Given the description of an element on the screen output the (x, y) to click on. 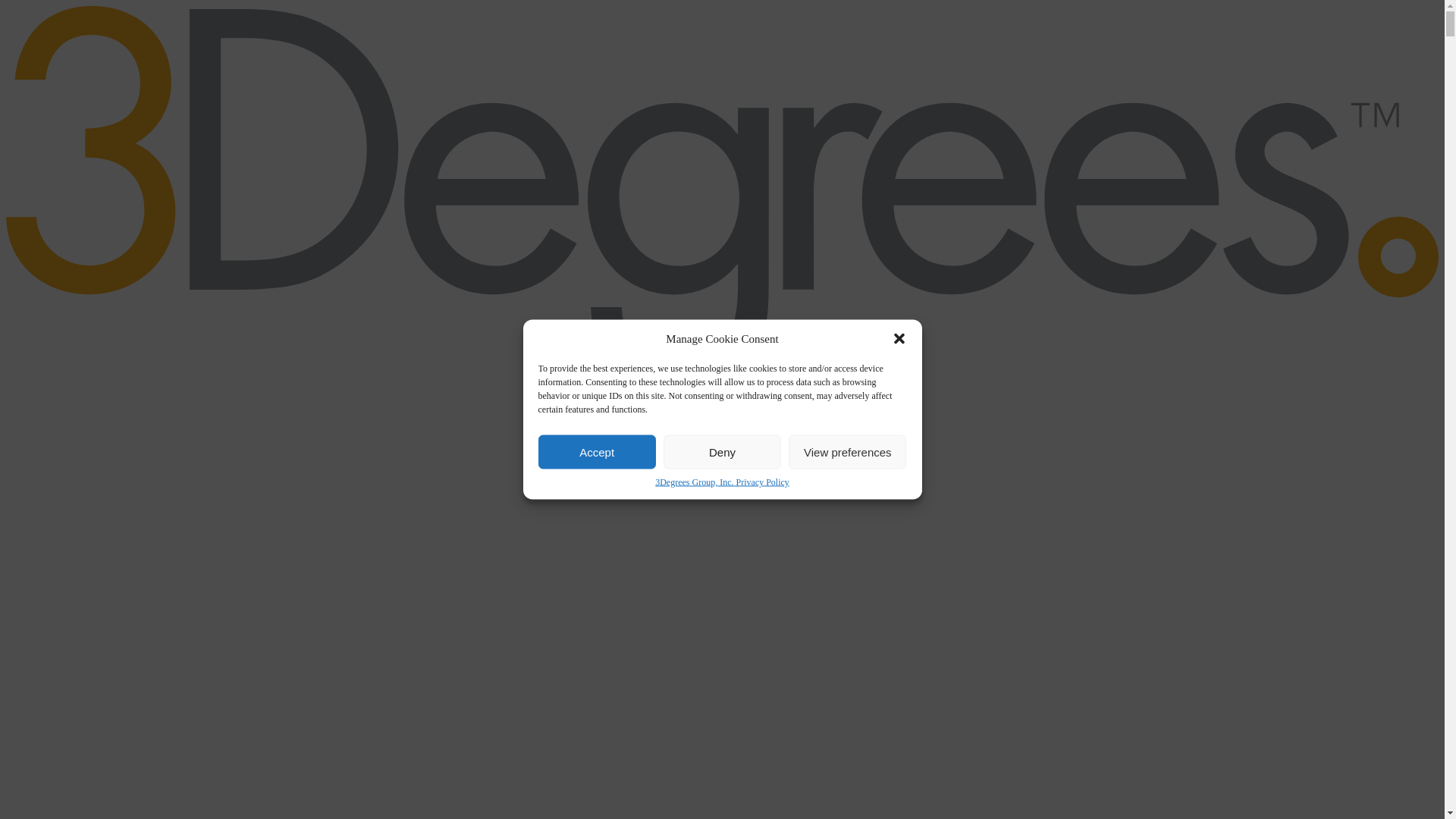
Deny Element type: text (722, 452)
View preferences Element type: text (847, 452)
Accept Element type: text (596, 452)
3Degrees Group, Inc. Privacy Policy Element type: text (722, 481)
